Given the description of an element on the screen output the (x, y) to click on. 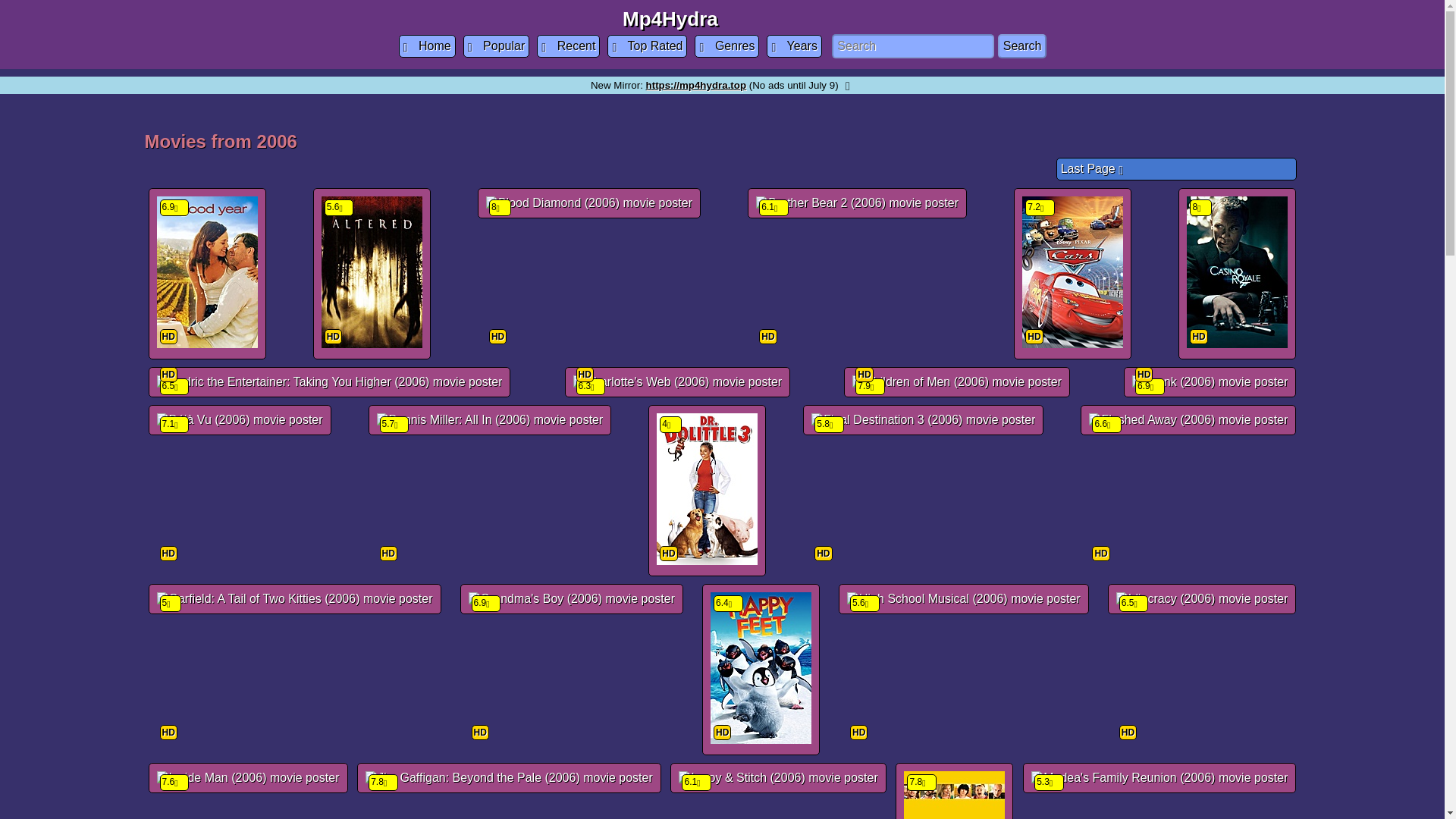
Search (1021, 46)
Recently Added (568, 46)
Browse by Genre (726, 46)
Most Popular Movies (496, 46)
Recent (568, 46)
Popular (496, 46)
Search for movies (912, 46)
Top Rated (647, 46)
Search (1021, 46)
Years (794, 46)
Genres (726, 46)
Highest Rated Movies (647, 46)
Visit mp4hydra.top (696, 84)
Home (426, 46)
Mp4Hydra Homepage (426, 46)
